Given the description of an element on the screen output the (x, y) to click on. 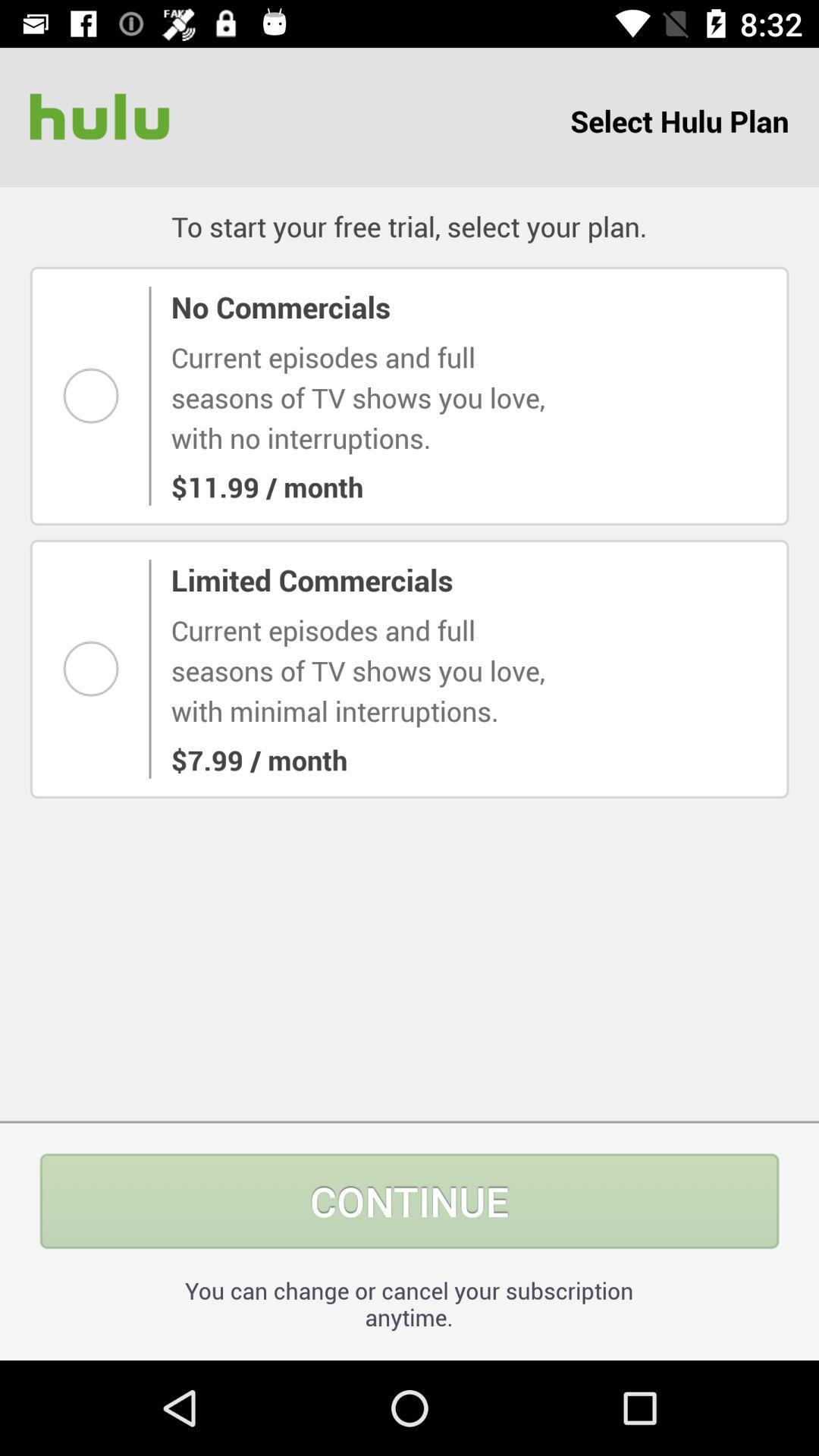
swipe to continue icon (409, 1200)
